Given the description of an element on the screen output the (x, y) to click on. 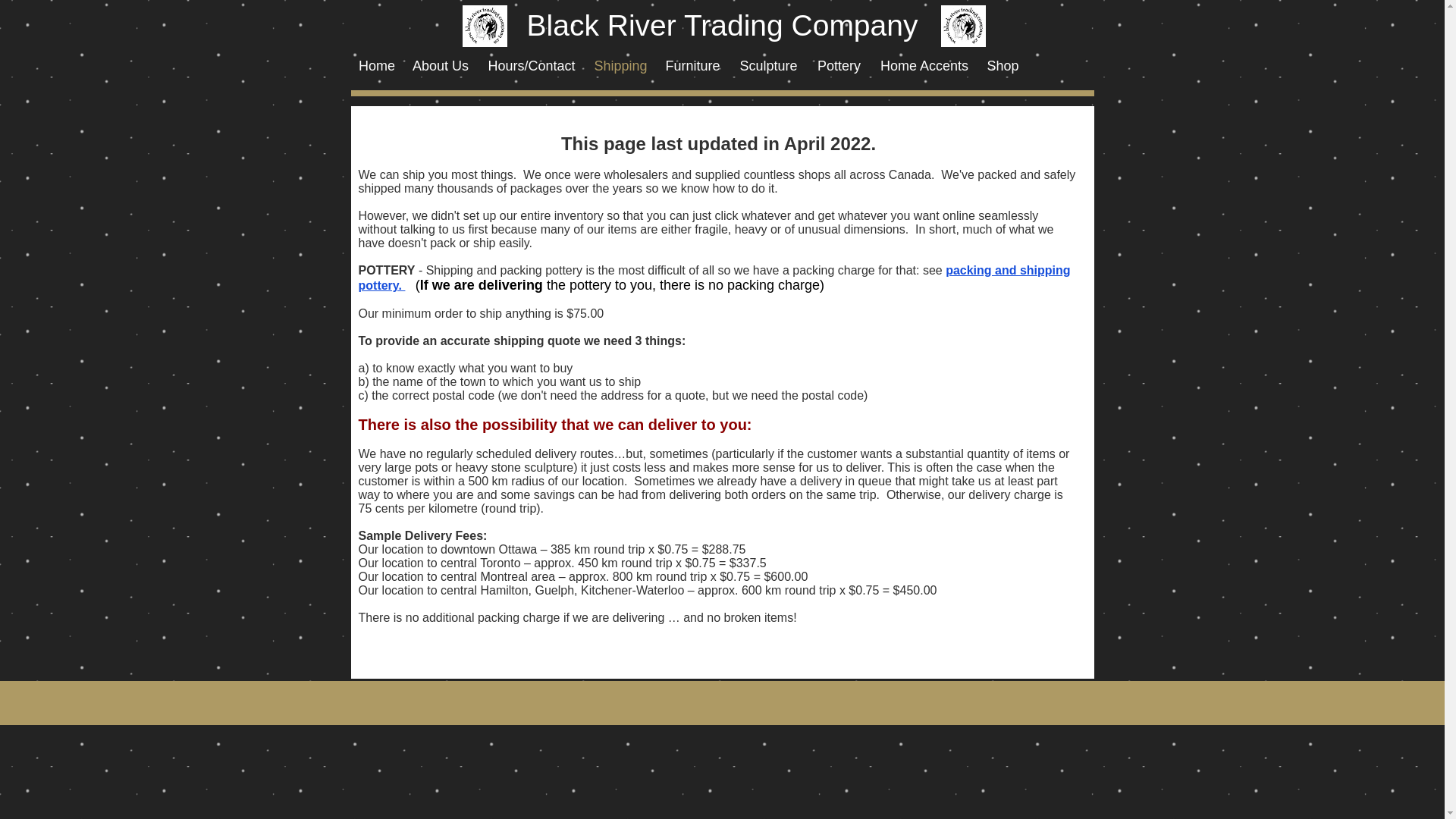
Home (376, 66)
About Us (441, 66)
Facebook Like (971, 690)
Furniture (692, 66)
Sculpture (768, 66)
Pottery (839, 66)
Shipping (620, 66)
Home Accents (924, 66)
